Given the description of an element on the screen output the (x, y) to click on. 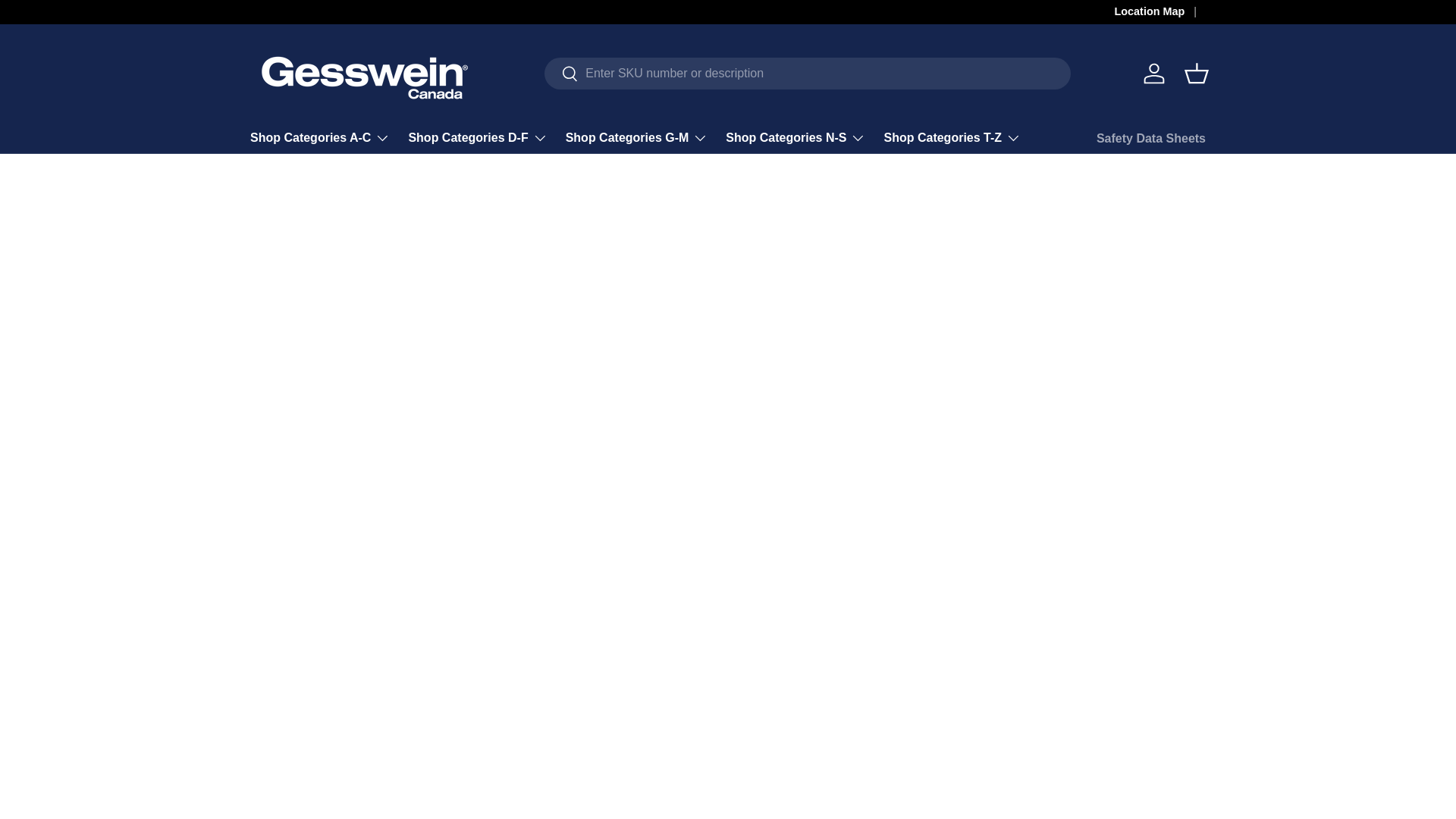
Log in (1153, 73)
Shop Categories A-C (320, 137)
Search (561, 74)
Basket (1195, 73)
Skip to content (69, 21)
Location Map (1161, 12)
